Given the description of an element on the screen output the (x, y) to click on. 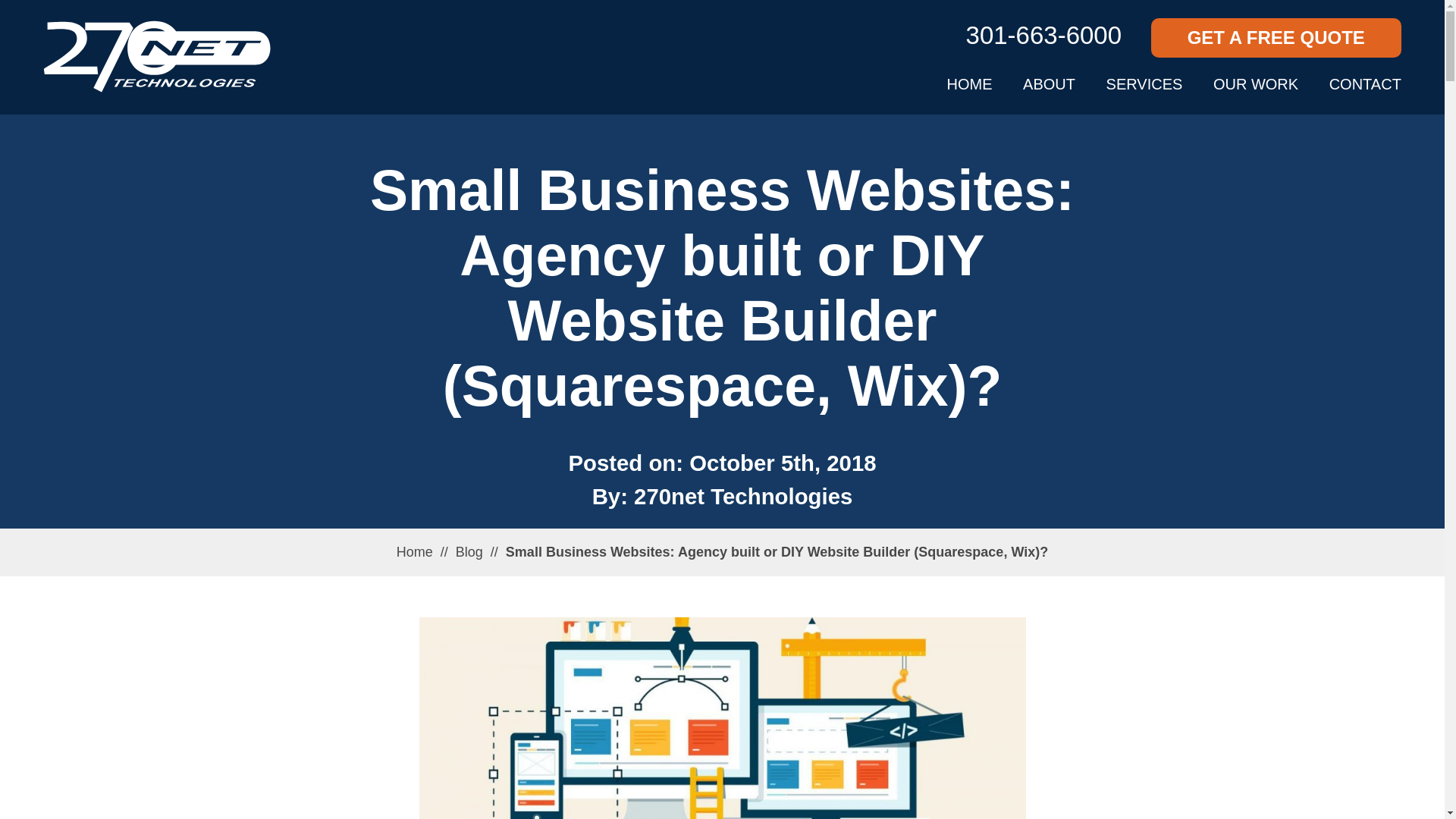
270net Blog (924, 595)
GET A FREE QUOTE (1275, 38)
Sitemap (862, 795)
Search Engine Optimization (681, 565)
Website Design (352, 599)
Website Care Plans (364, 661)
ABOUT (1049, 84)
Client Login (924, 657)
Privacy (938, 795)
Website Update Requests (383, 691)
